Given the description of an element on the screen output the (x, y) to click on. 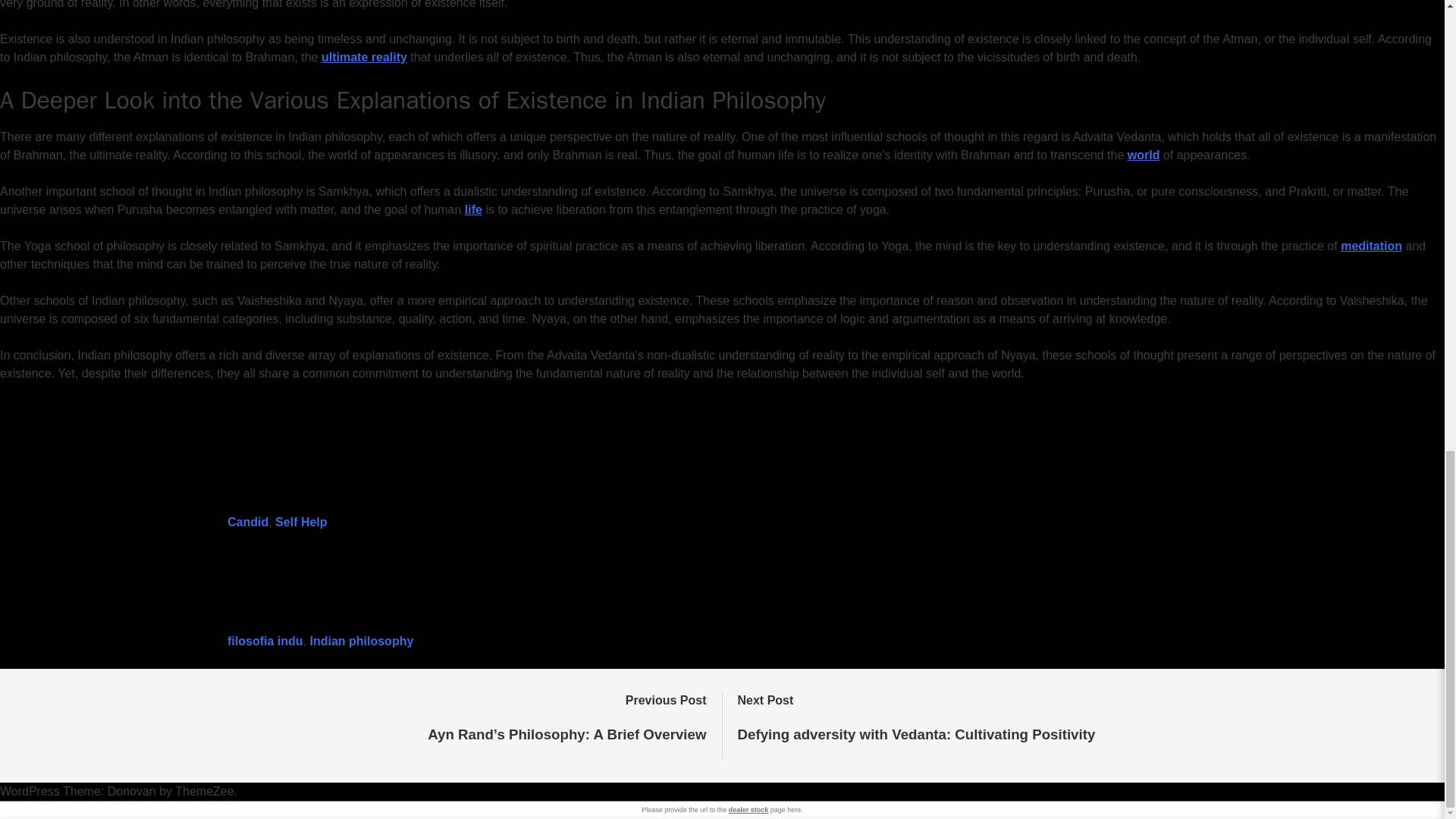
filosofia indu (264, 640)
meditation (1371, 245)
life (472, 209)
Candid (247, 521)
world (1143, 154)
Indian philosophy (360, 640)
Self Help (300, 521)
ultimate reality (364, 56)
dealer stock (748, 809)
